Given the description of an element on the screen output the (x, y) to click on. 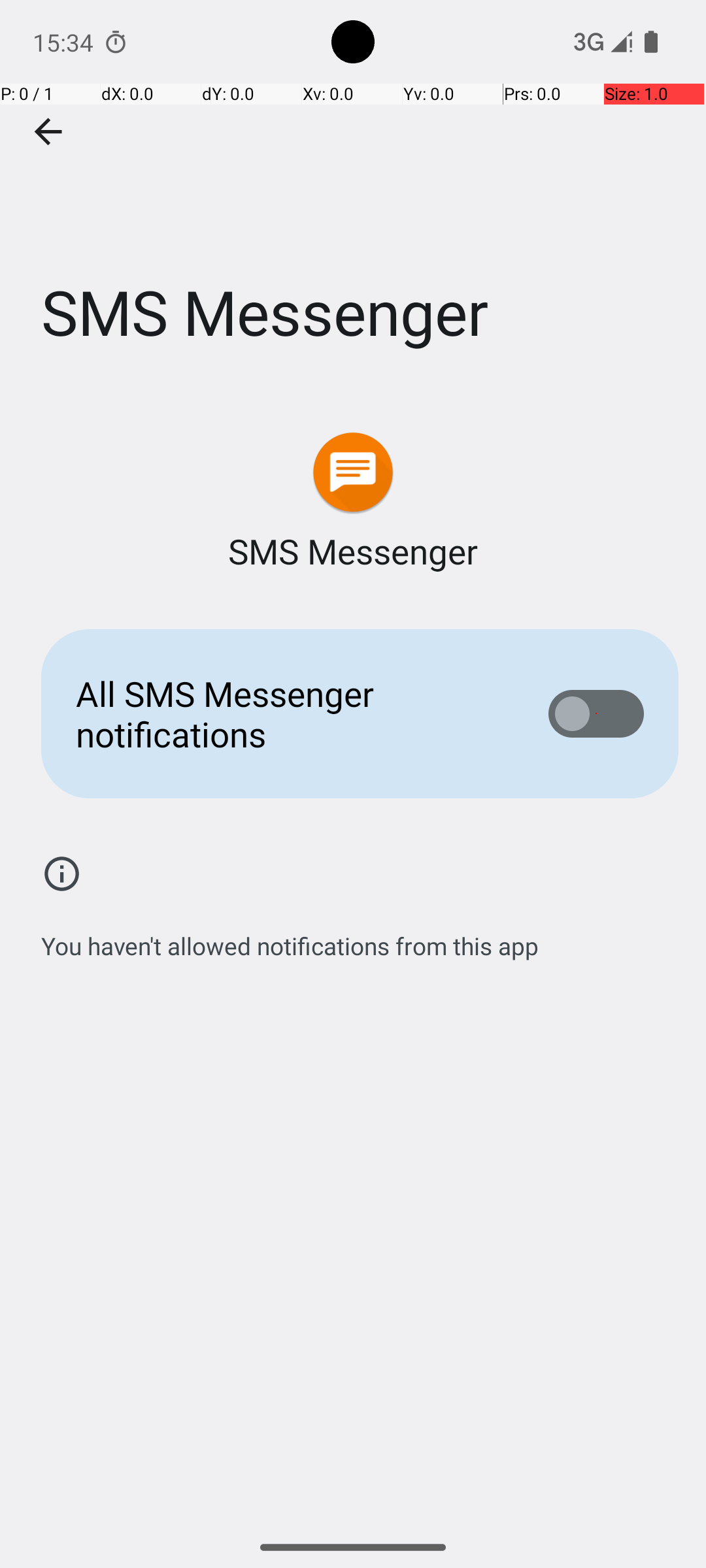
All SMS Messenger notifications Element type: android.widget.TextView (291, 713)
You haven't allowed notifications from this app Element type: android.widget.TextView (290, 938)
